Given the description of an element on the screen output the (x, y) to click on. 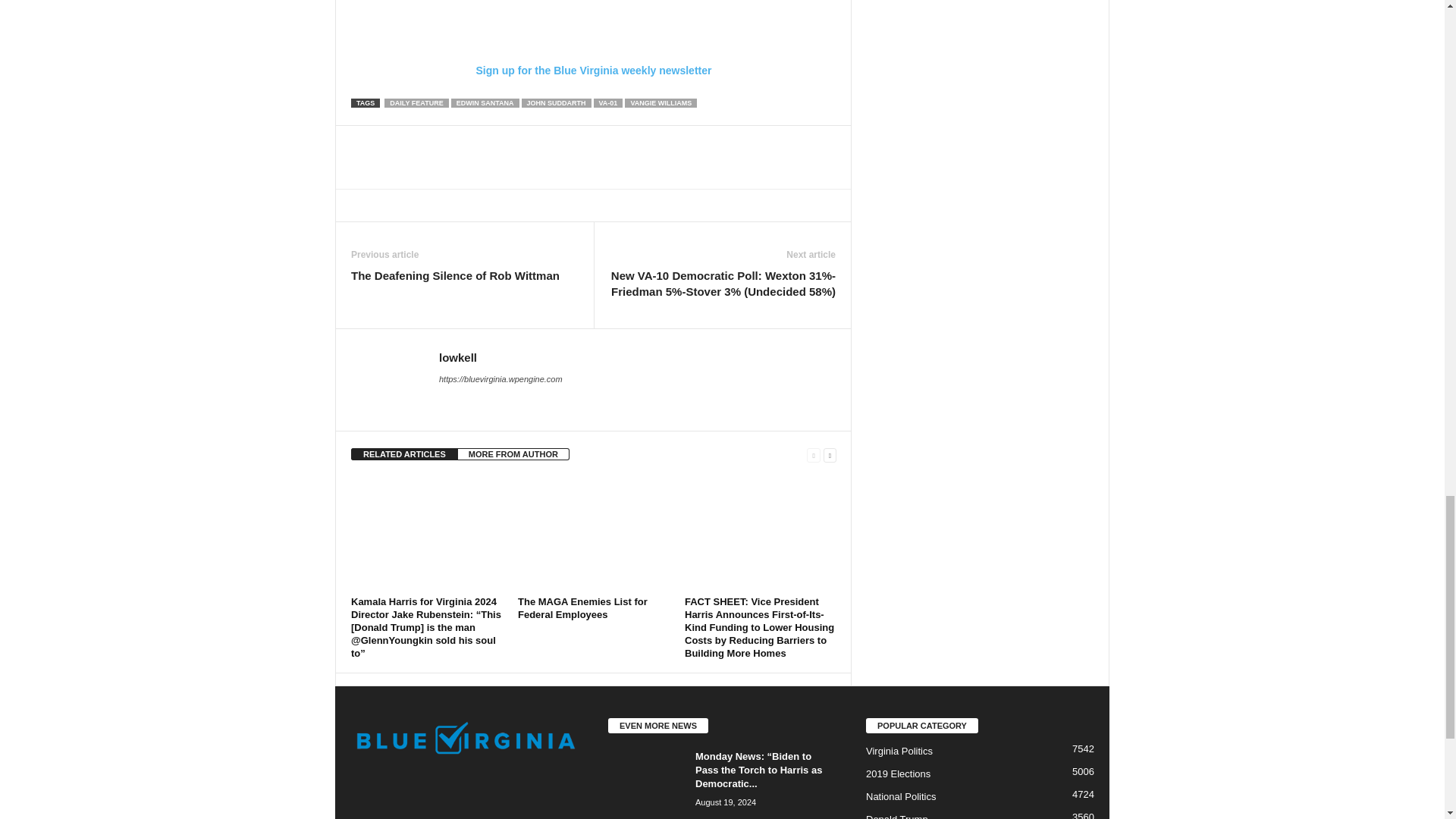
The Deafening Silence of Rob Wittman (454, 275)
VANGIE WILLIAMS (660, 102)
VA-01 (608, 102)
JOHN SUDDARTH (556, 102)
EDWIN SANTANA (485, 102)
Sign up for the Blue Virginia weekly newsletter (592, 38)
DAILY FEATURE (416, 102)
